Given the description of an element on the screen output the (x, y) to click on. 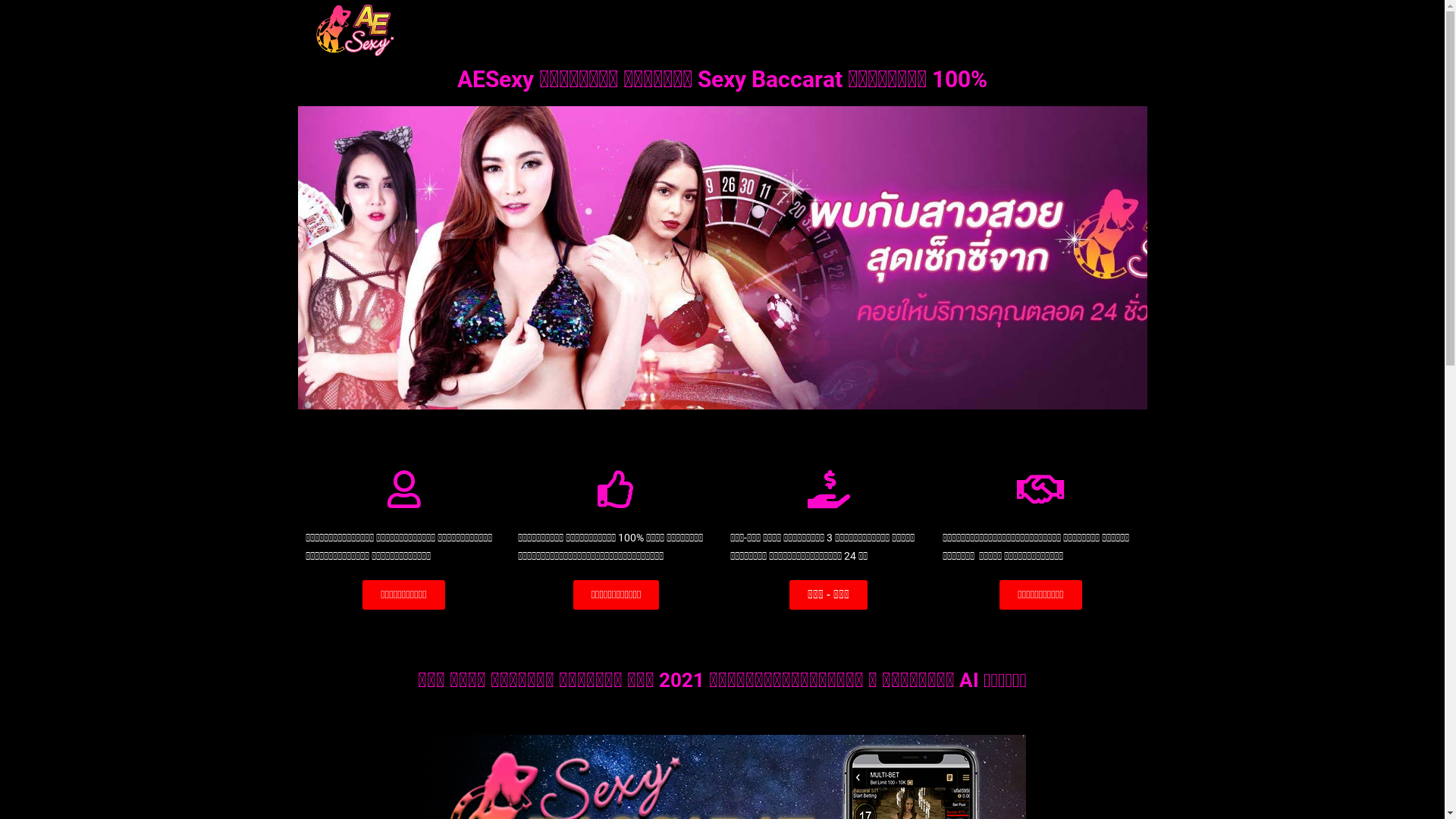
home Element type: text (1056, 42)
